Given the description of an element on the screen output the (x, y) to click on. 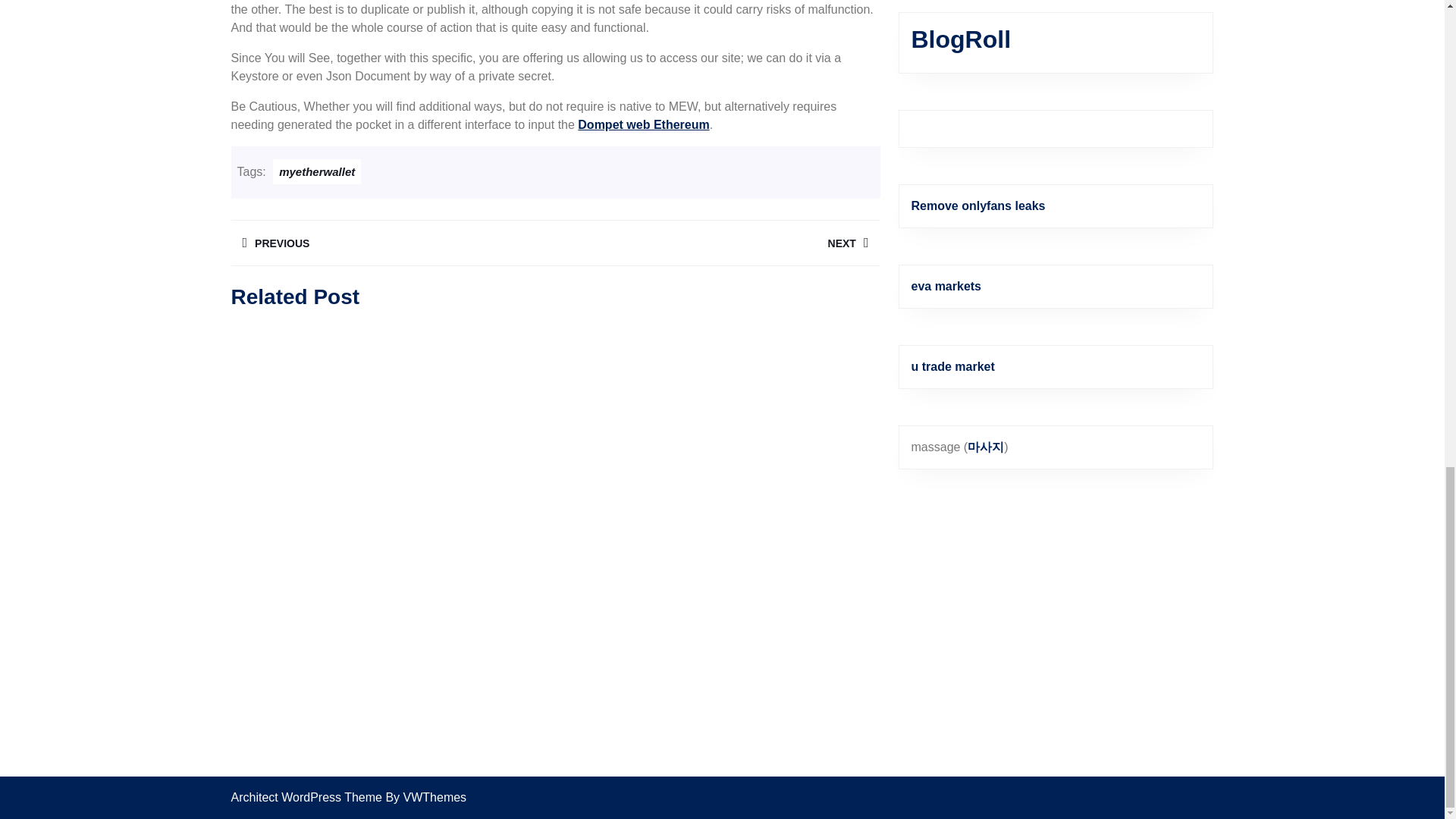
Dompet web Ethereum (643, 124)
myetherwallet (317, 171)
